Given the description of an element on the screen output the (x, y) to click on. 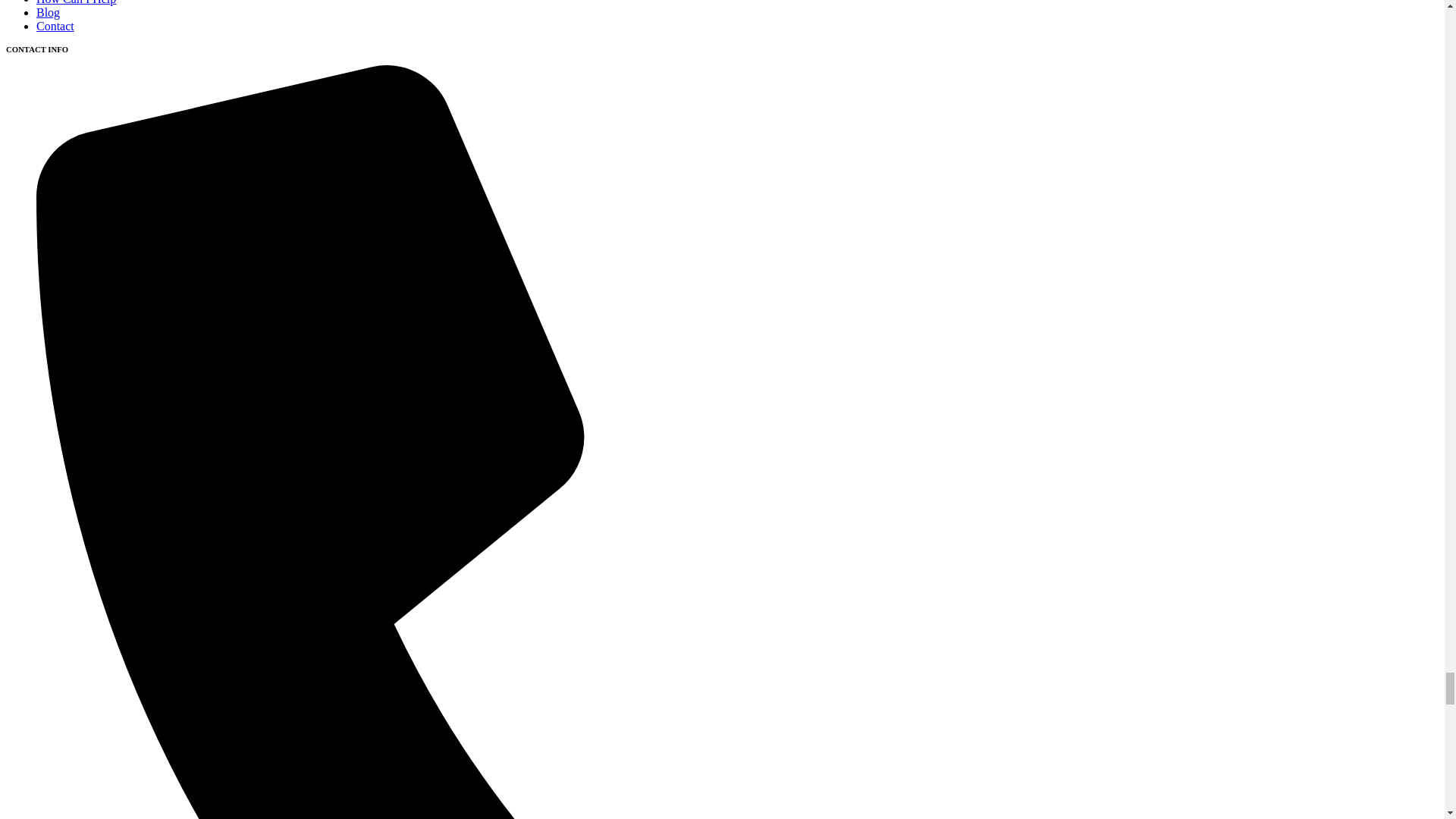
Blog (47, 11)
How Can I Help (76, 2)
Contact (55, 25)
